Given the description of an element on the screen output the (x, y) to click on. 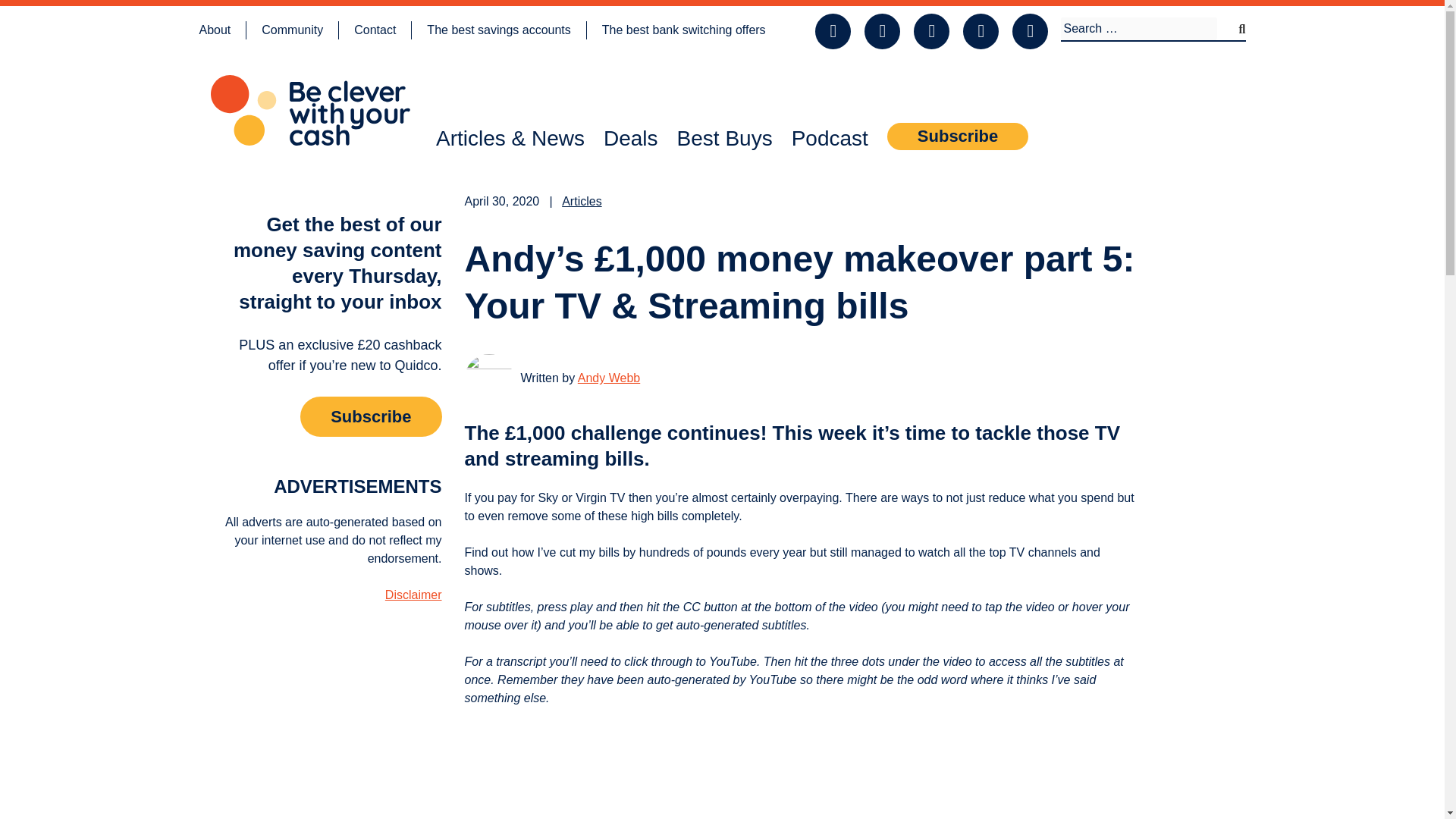
YouTube (888, 44)
The best savings accounts (498, 29)
About (214, 29)
The best bank switching offers (683, 29)
Instagram (989, 44)
Posts by Andy Webb (609, 377)
Facebook (1038, 44)
Articles (581, 201)
Contact (374, 29)
Community (292, 29)
